Given the description of an element on the screen output the (x, y) to click on. 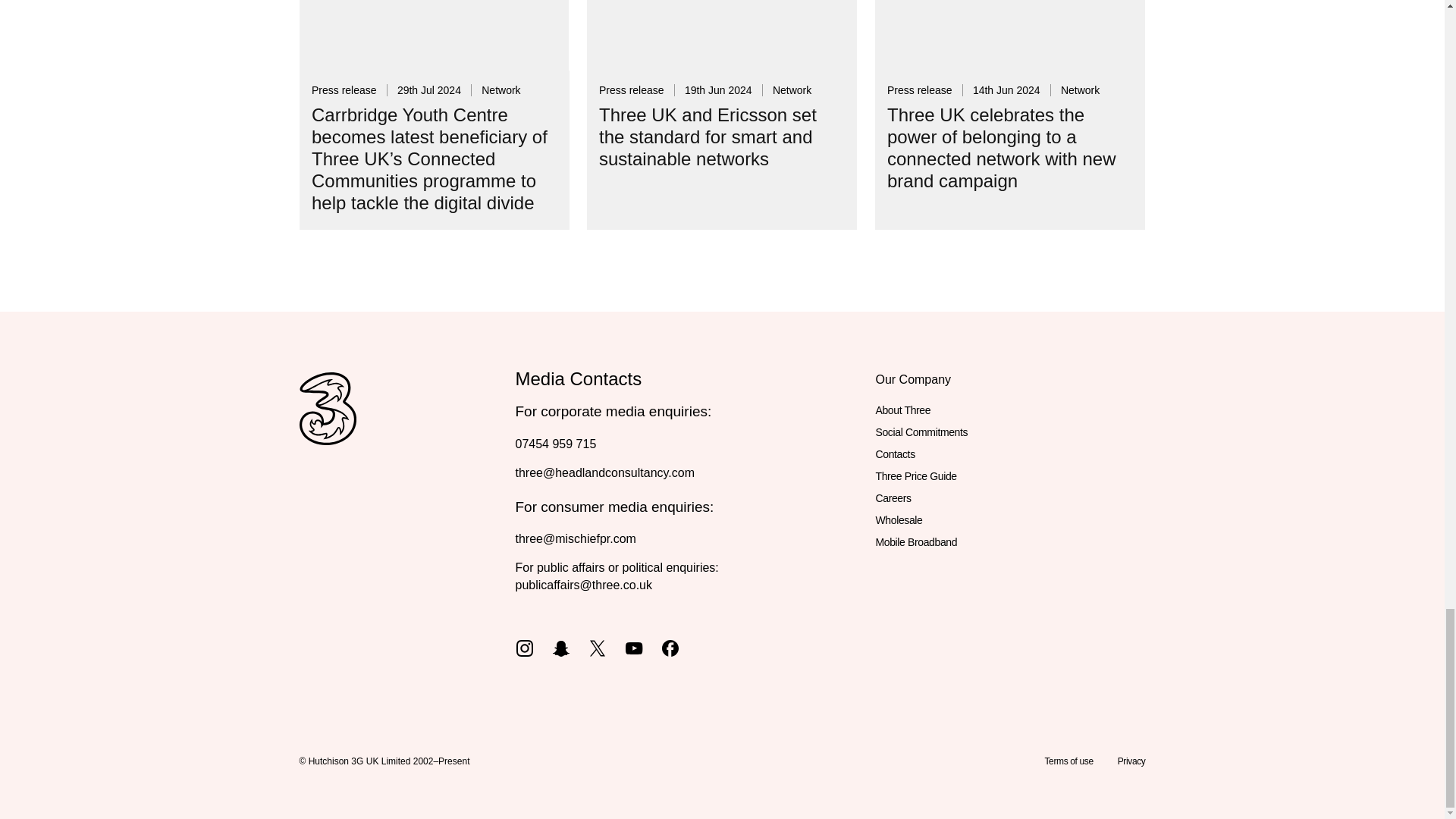
Social Commitments (921, 432)
Mobile Broadband (915, 542)
Careers (893, 497)
Contacts (894, 454)
07454 959 715 (555, 443)
Visit our Instagram page. (524, 646)
Home (326, 425)
Three Price Guide (915, 476)
Privacy (1131, 760)
Follow us on Snapchat for the latest from Three Mobile... (560, 646)
Read our tweets. (597, 646)
Terms of use (1068, 760)
About Three (902, 410)
